Given the description of an element on the screen output the (x, y) to click on. 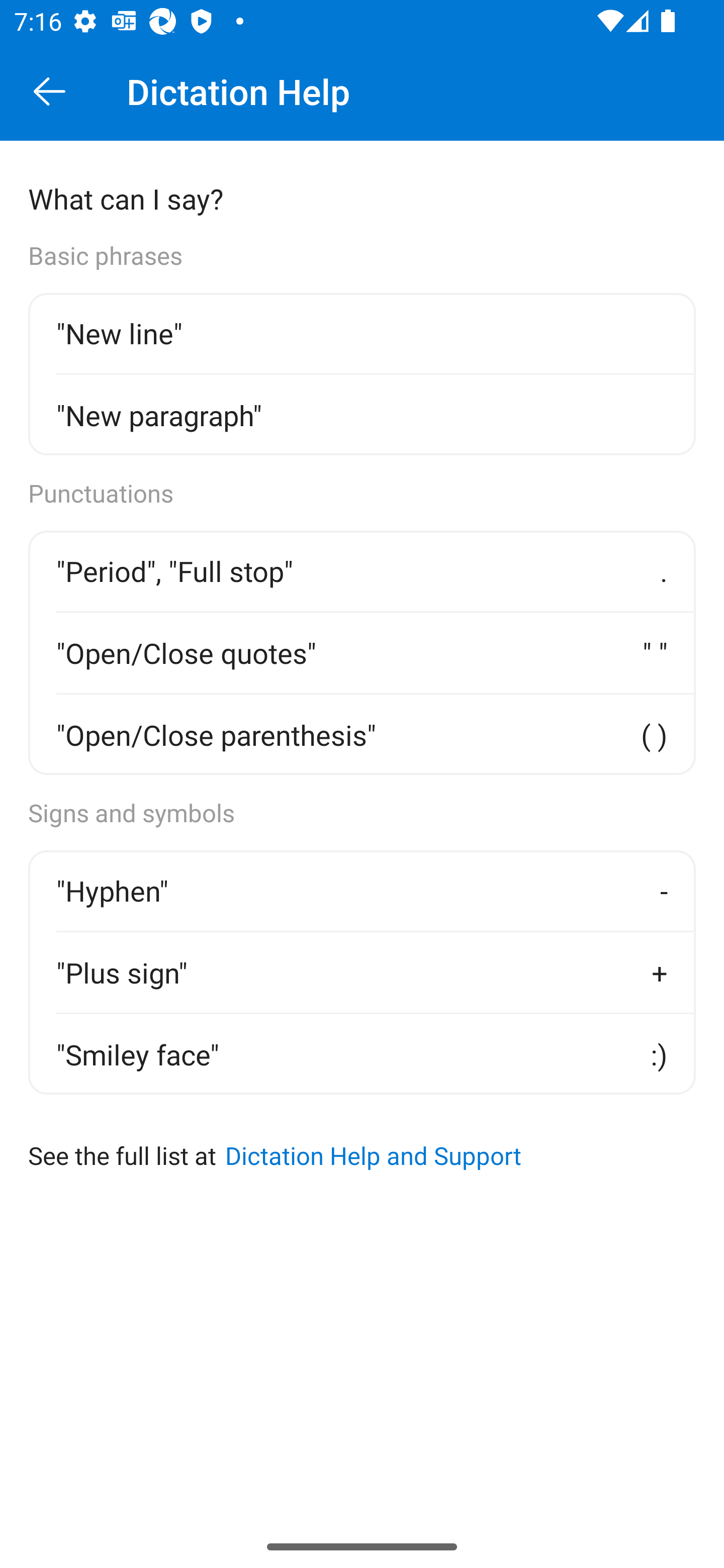
Go Back (49, 91)
Dictation Help and Support (373, 1154)
